Given the description of an element on the screen output the (x, y) to click on. 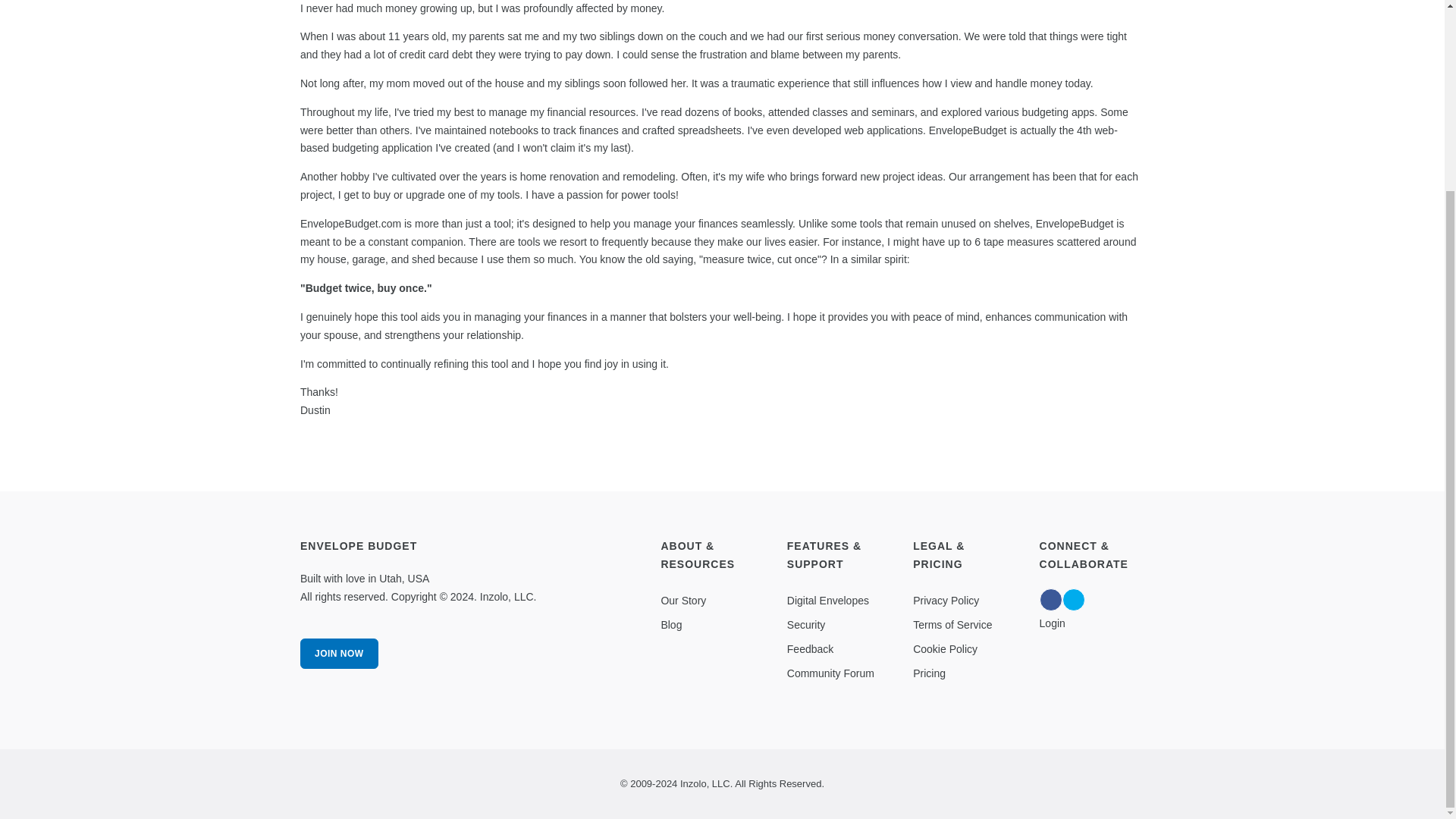
Blog (671, 624)
Cookie Policy (944, 648)
Digital Envelopes (828, 600)
Security (806, 624)
Feedback (809, 648)
JOIN NOW (338, 653)
Our Story (683, 600)
Community Forum (831, 673)
Login (1052, 623)
Pricing (928, 673)
